Given the description of an element on the screen output the (x, y) to click on. 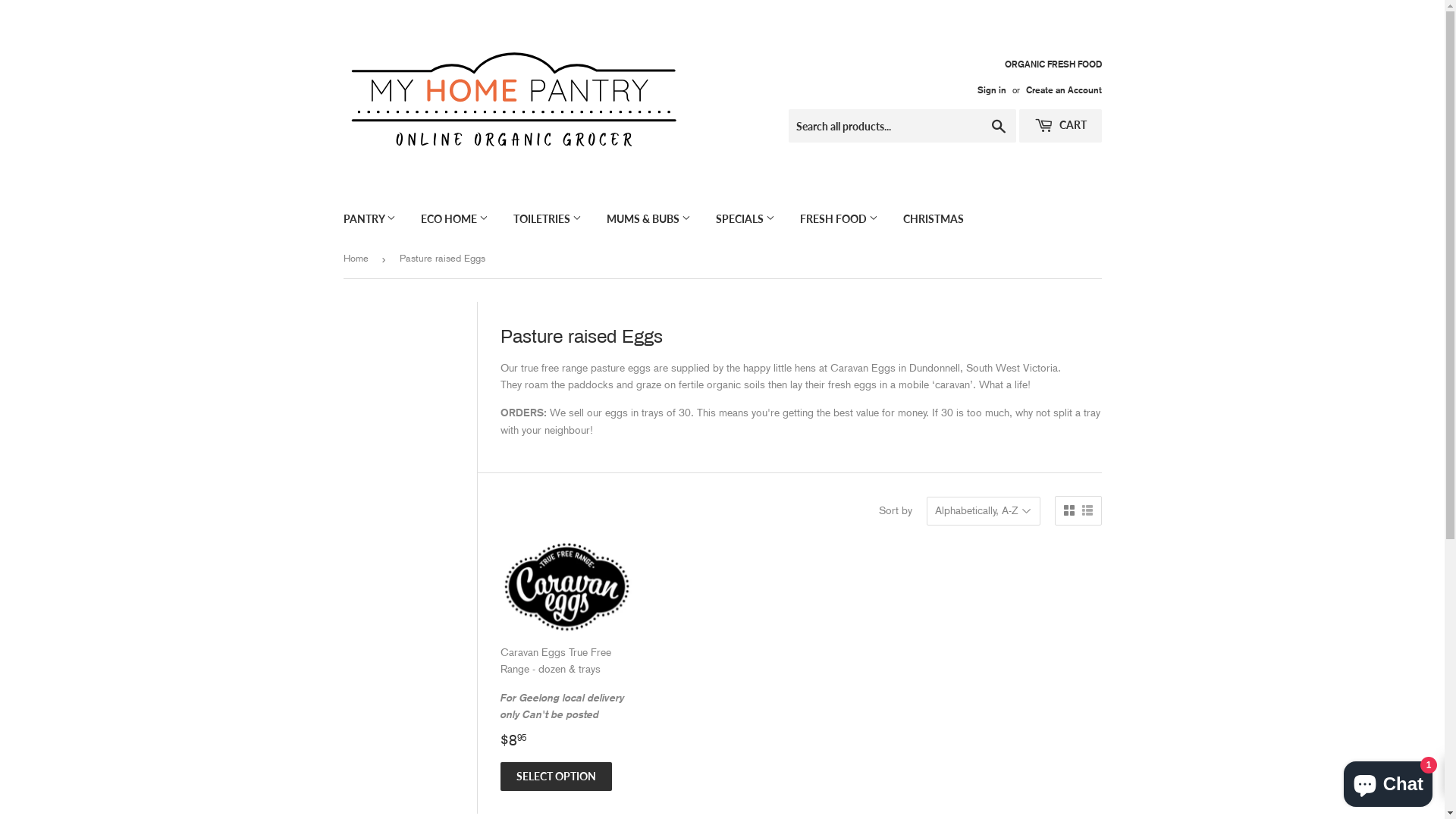
ORGANIC FRESH FOOD Element type: text (1033, 76)
SELECT OPTION Element type: text (555, 776)
ECO HOME Element type: text (454, 218)
List view Element type: hover (1086, 510)
TOILETRIES Element type: text (547, 218)
PANTRY Element type: text (369, 218)
FRESH FOOD Element type: text (838, 218)
CART Element type: text (1060, 125)
Sign in Element type: text (990, 89)
MUMS & BUBS Element type: text (647, 218)
CHRISTMAS Element type: text (933, 218)
Home Element type: text (357, 258)
Grid view Element type: hover (1068, 510)
Shopify online store chat Element type: hover (1388, 780)
Search Element type: text (998, 126)
Create an Account Element type: text (1063, 89)
SPECIALS Element type: text (744, 218)
